Given the description of an element on the screen output the (x, y) to click on. 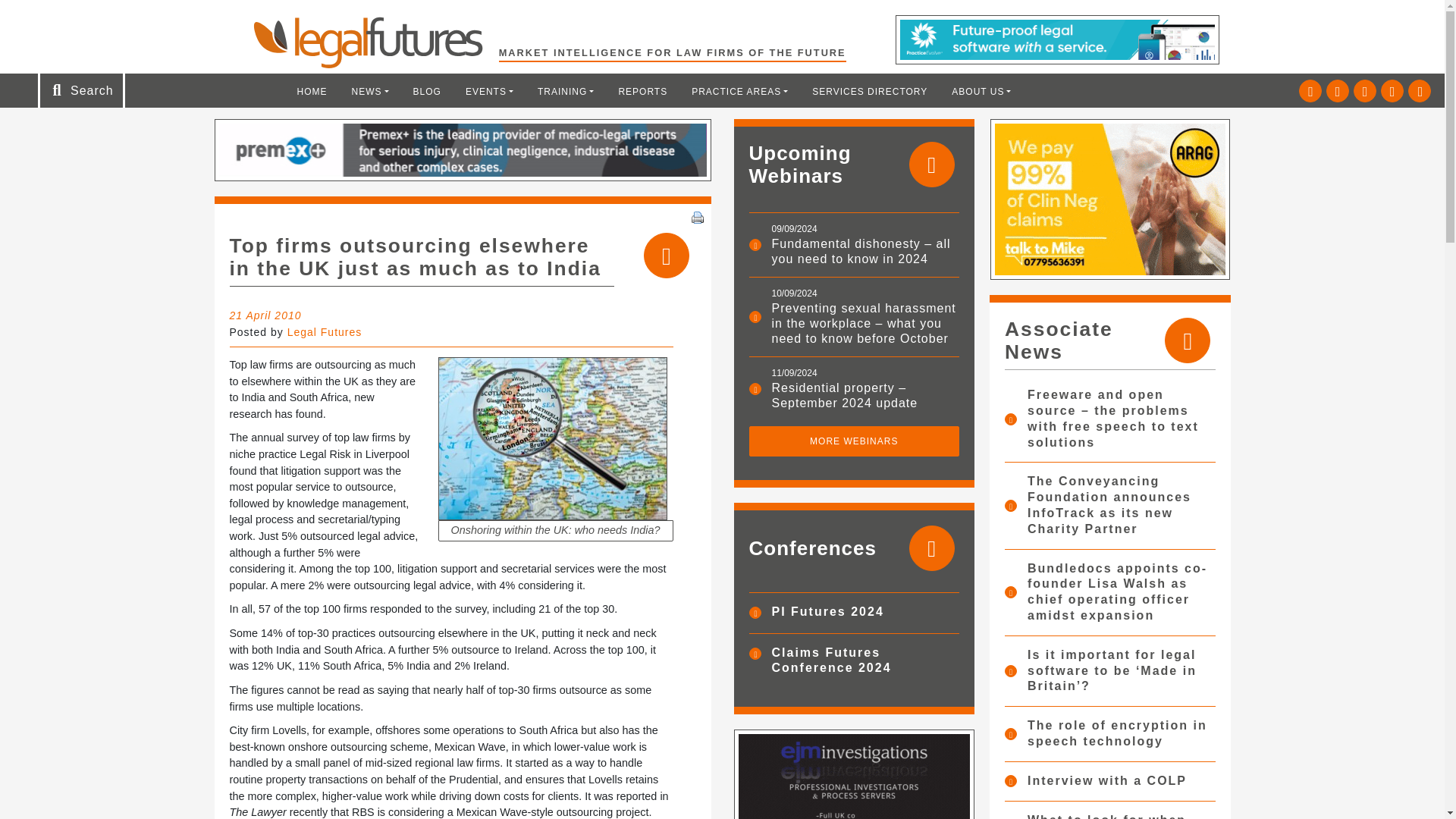
Blog (426, 91)
REPORTS (642, 91)
PRACTICE AREAS (739, 91)
Search (51, 16)
See Legal Futures on Twitter (1310, 90)
See Legal Futures on Rss (1419, 90)
Legal Futures homepage (375, 42)
NEWS (370, 91)
TRAINING (565, 91)
See Legal Futures on Linkedin-in (1337, 90)
